Given the description of an element on the screen output the (x, y) to click on. 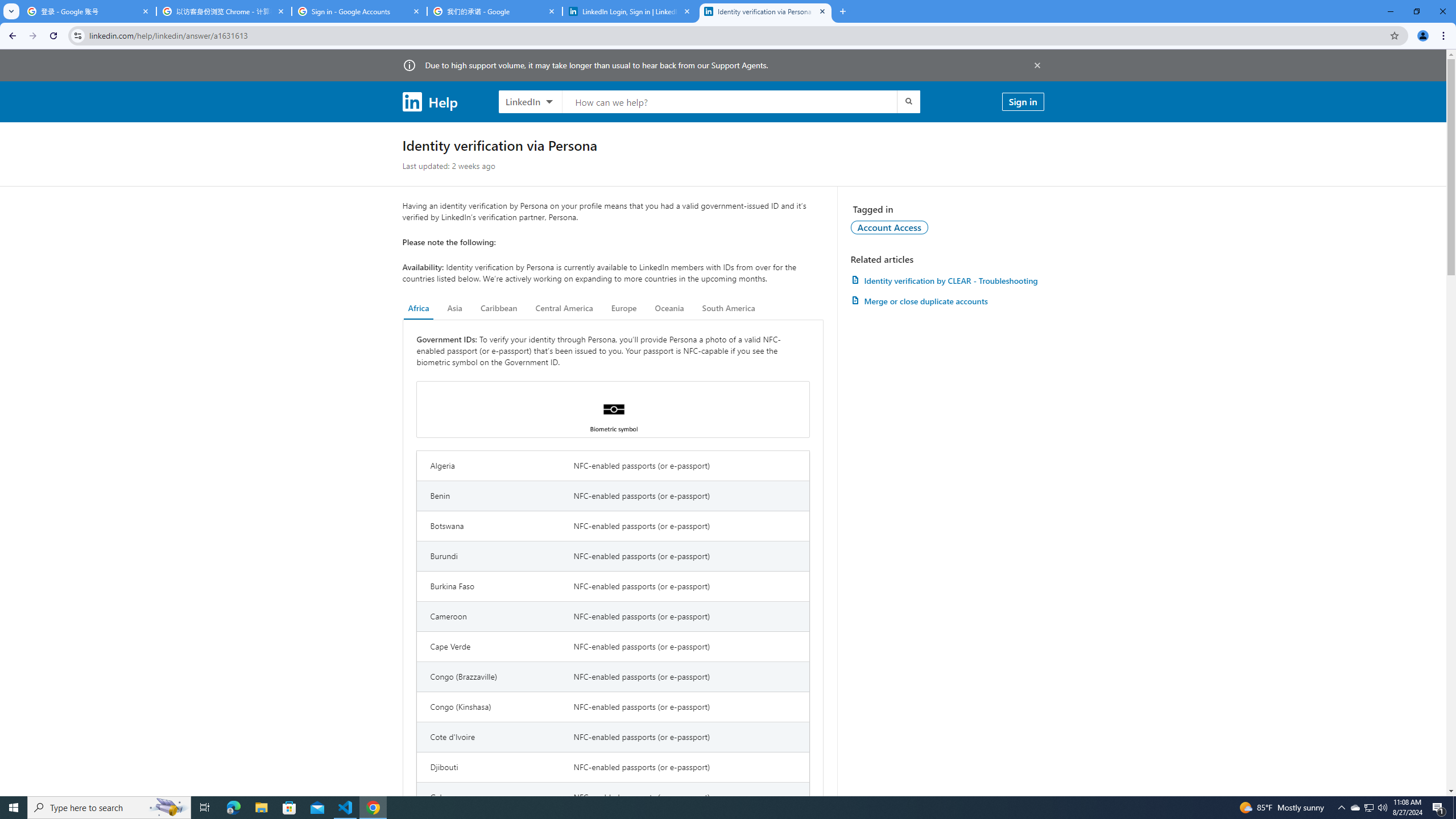
South America (728, 308)
Central America (563, 308)
Submit search (908, 101)
Identity verification via Persona | LinkedIn Help (765, 11)
AutomationID: topic-link-a151002 (889, 227)
LinkedIn Login, Sign in | LinkedIn (630, 11)
